Given the description of an element on the screen output the (x, y) to click on. 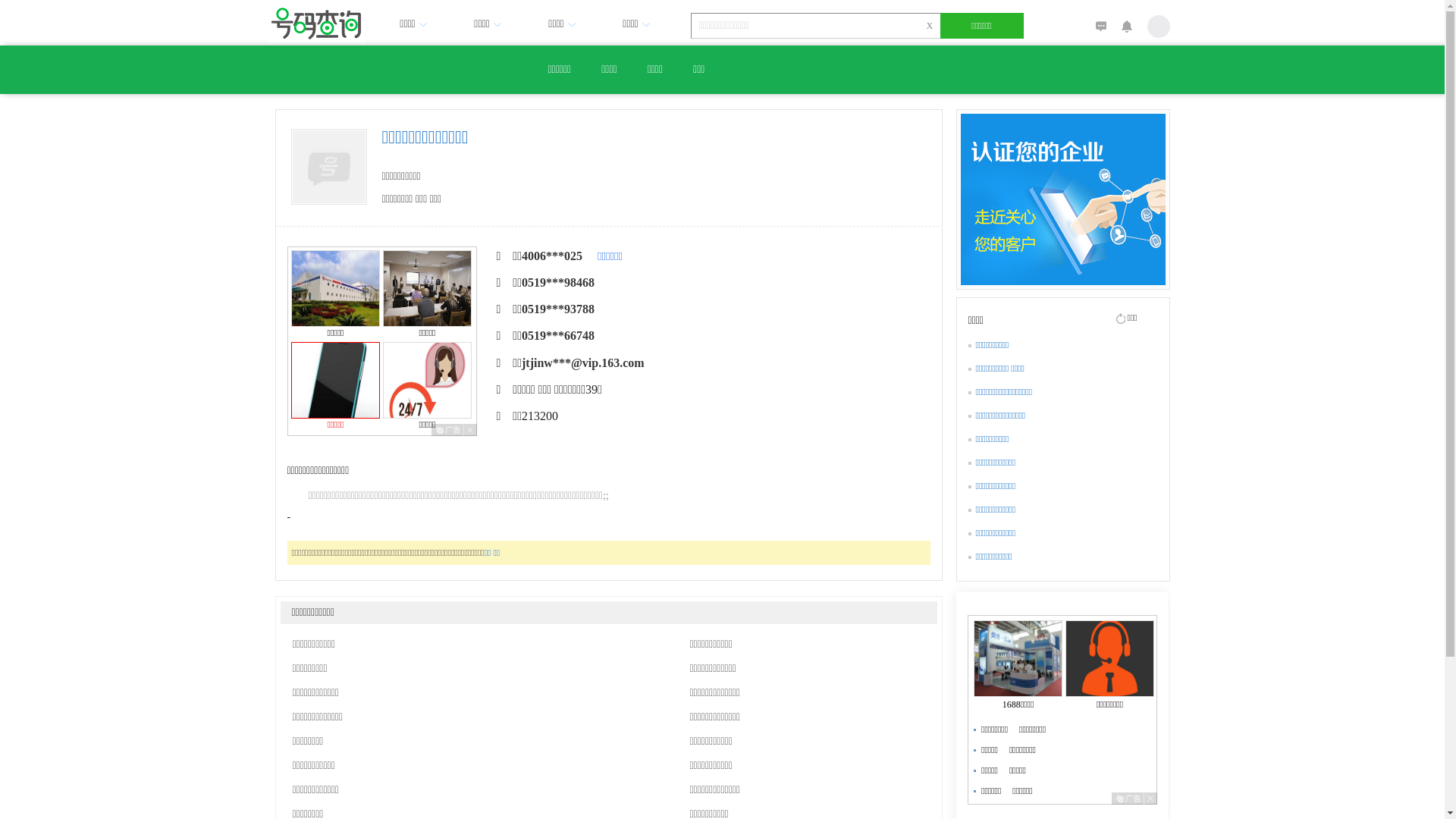
X Element type: text (930, 25)
